Given the description of an element on the screen output the (x, y) to click on. 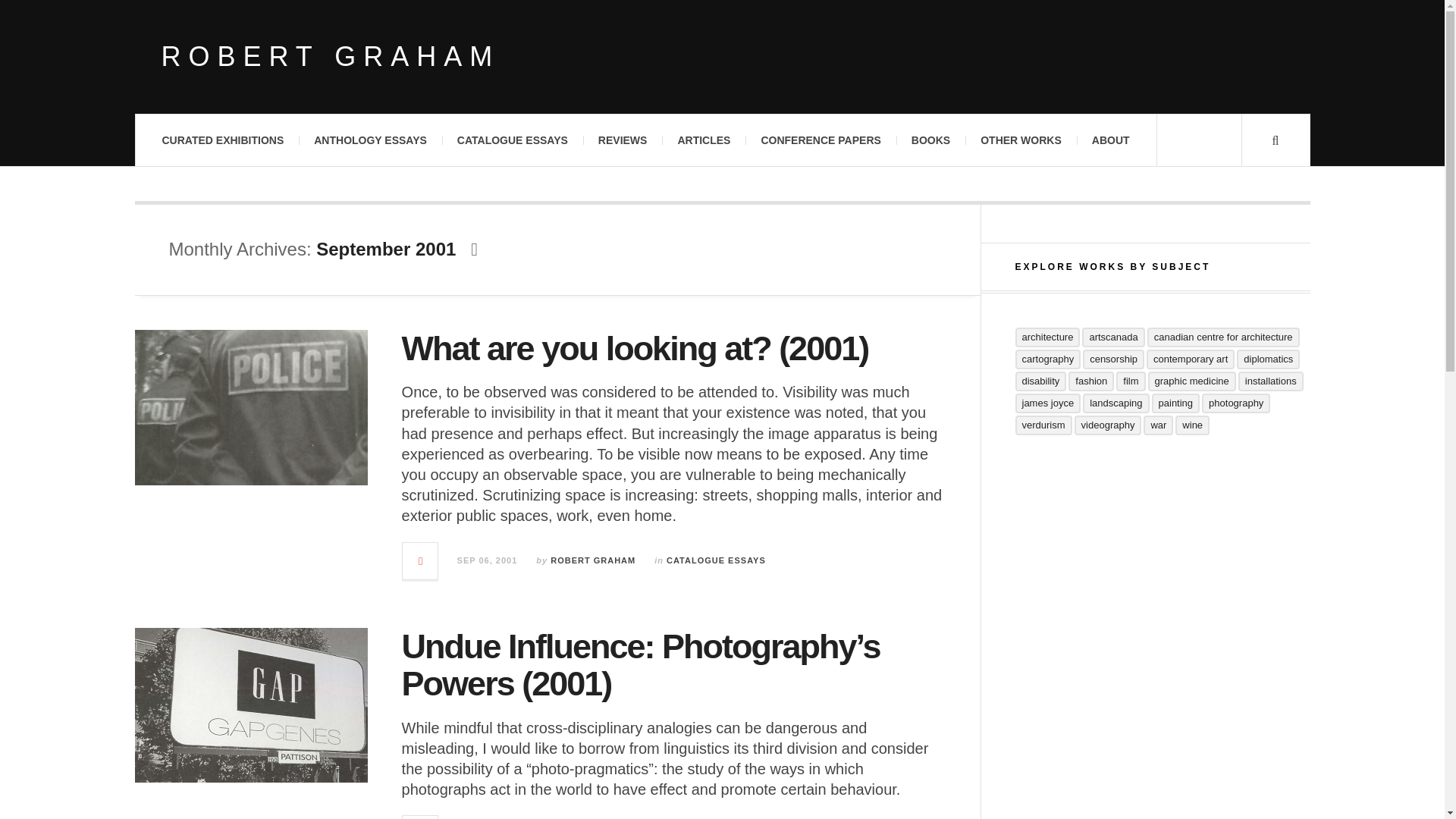
artscanada (1112, 337)
photography (1235, 403)
CATALOGUE ESSAYS (715, 560)
installations (1271, 381)
cartography (1047, 359)
james joyce (1047, 403)
View all posts in Catalogue Essays (715, 560)
CONFERENCE PAPERS (820, 140)
architecture (1047, 337)
graphic medicine (1192, 381)
ROBERT GRAHAM (329, 56)
contemporary art (1190, 359)
painting (1175, 403)
Read More... (421, 817)
Robert Graham (329, 56)
